Given the description of an element on the screen output the (x, y) to click on. 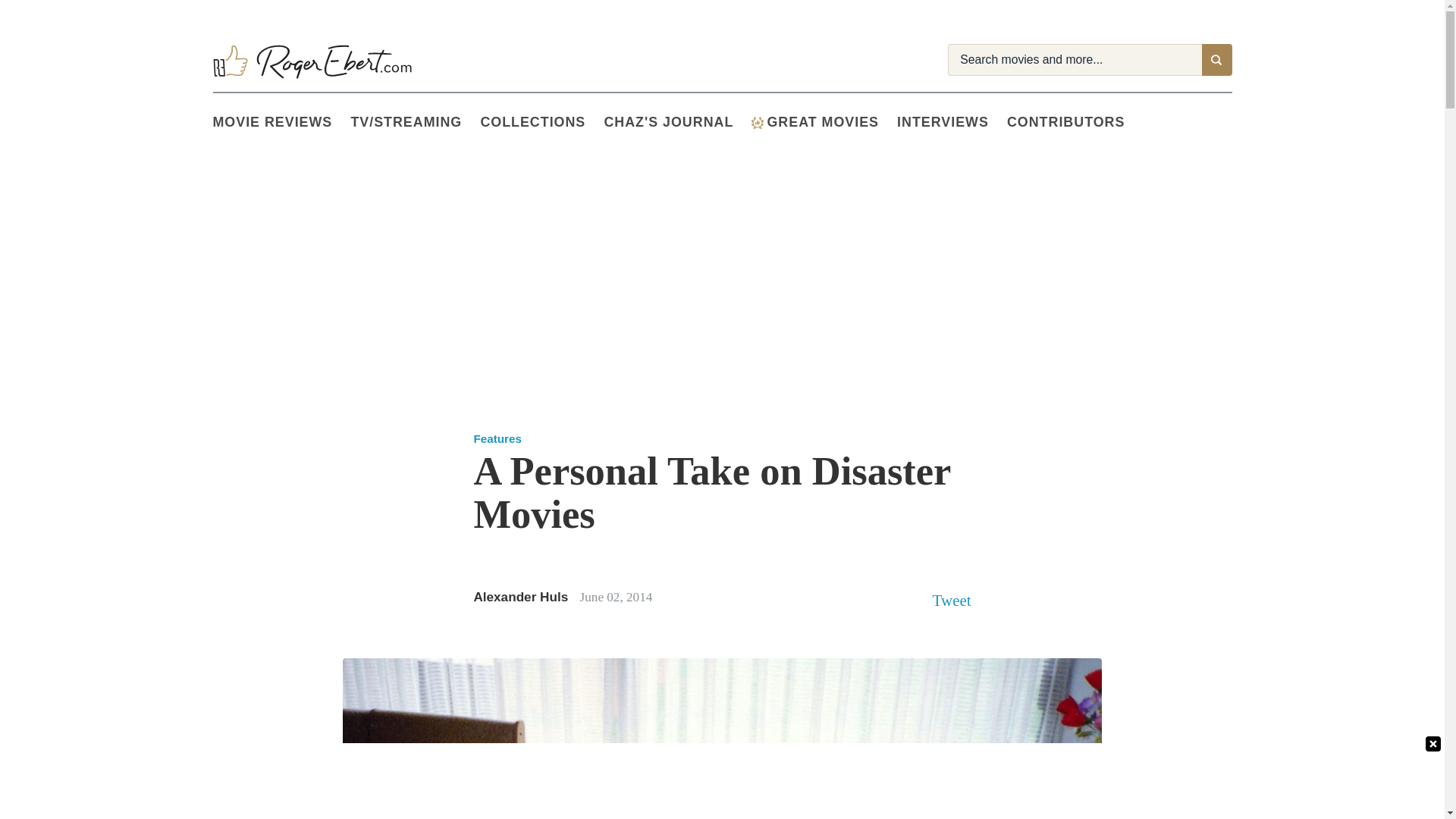
Search (1216, 60)
Collections (542, 122)
Contributors (1074, 122)
CONTRIBUTORS (1074, 122)
MOVIE REVIEWS (281, 122)
Features (497, 438)
Movie Reviews (281, 122)
Great Movies (756, 122)
Great Movies (823, 122)
Tweet (952, 600)
